Given the description of an element on the screen output the (x, y) to click on. 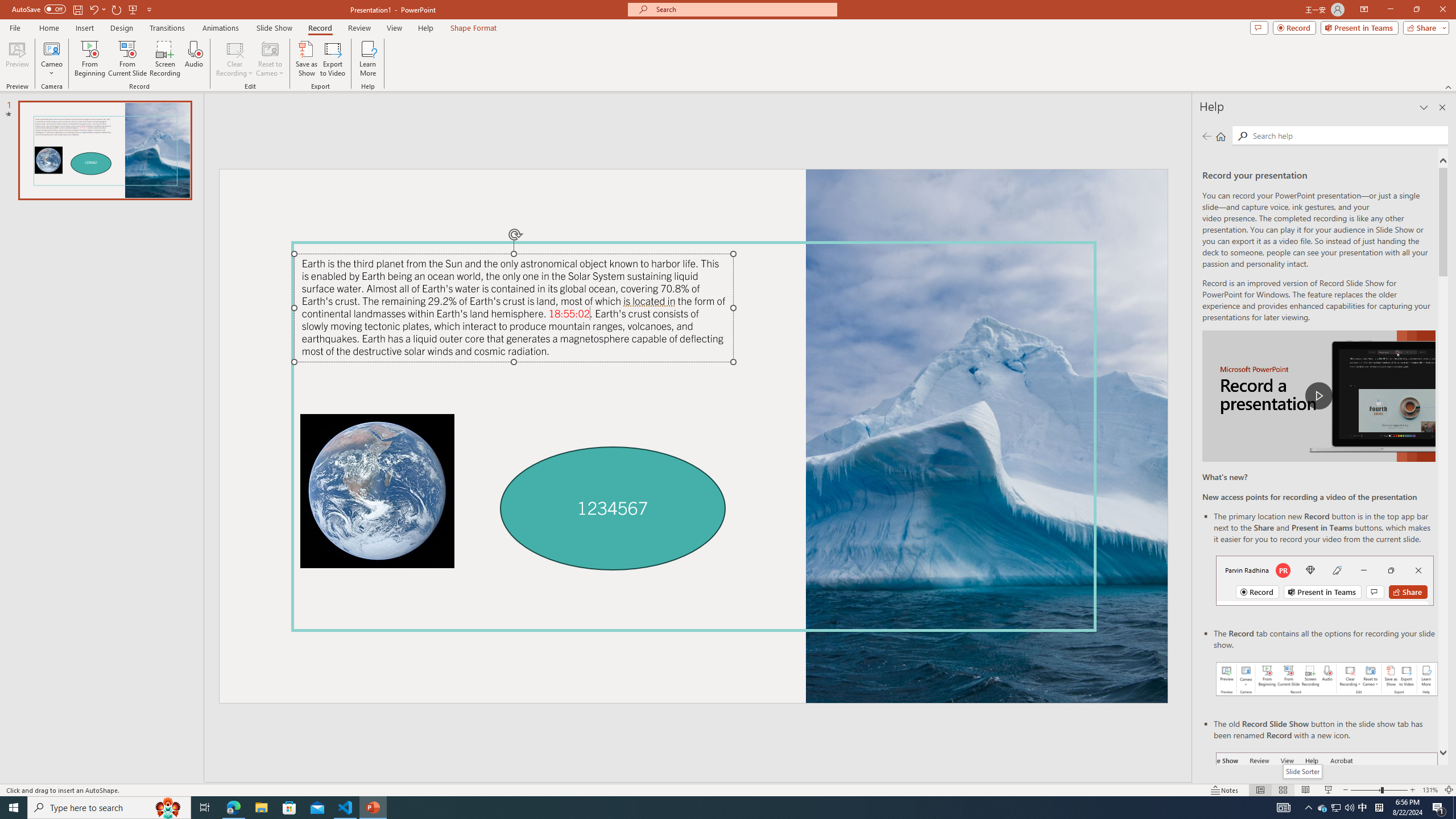
Record your presentations screenshot one (1326, 678)
